Given the description of an element on the screen output the (x, y) to click on. 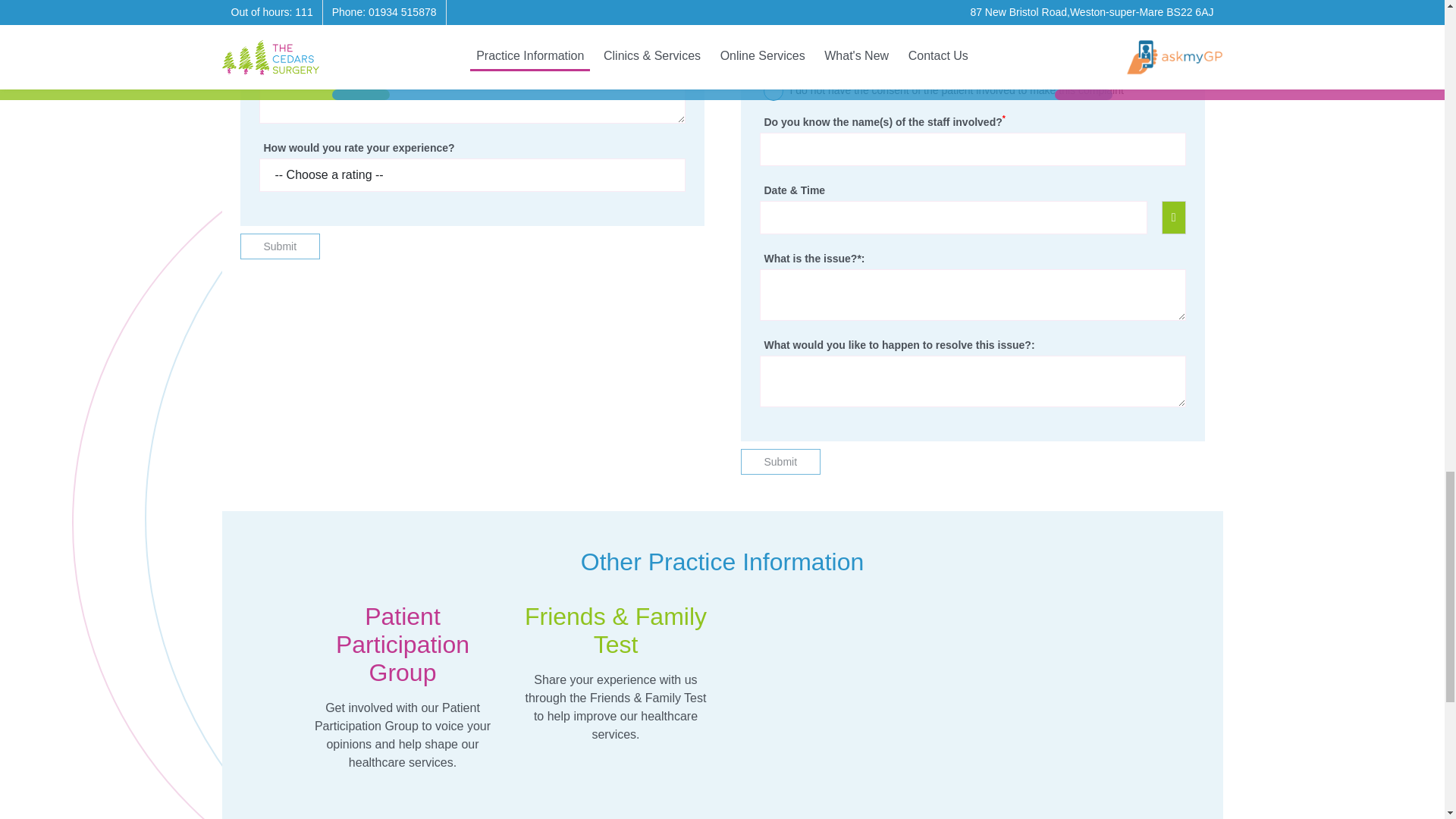
I am not the patient (772, 1)
